Given the description of an element on the screen output the (x, y) to click on. 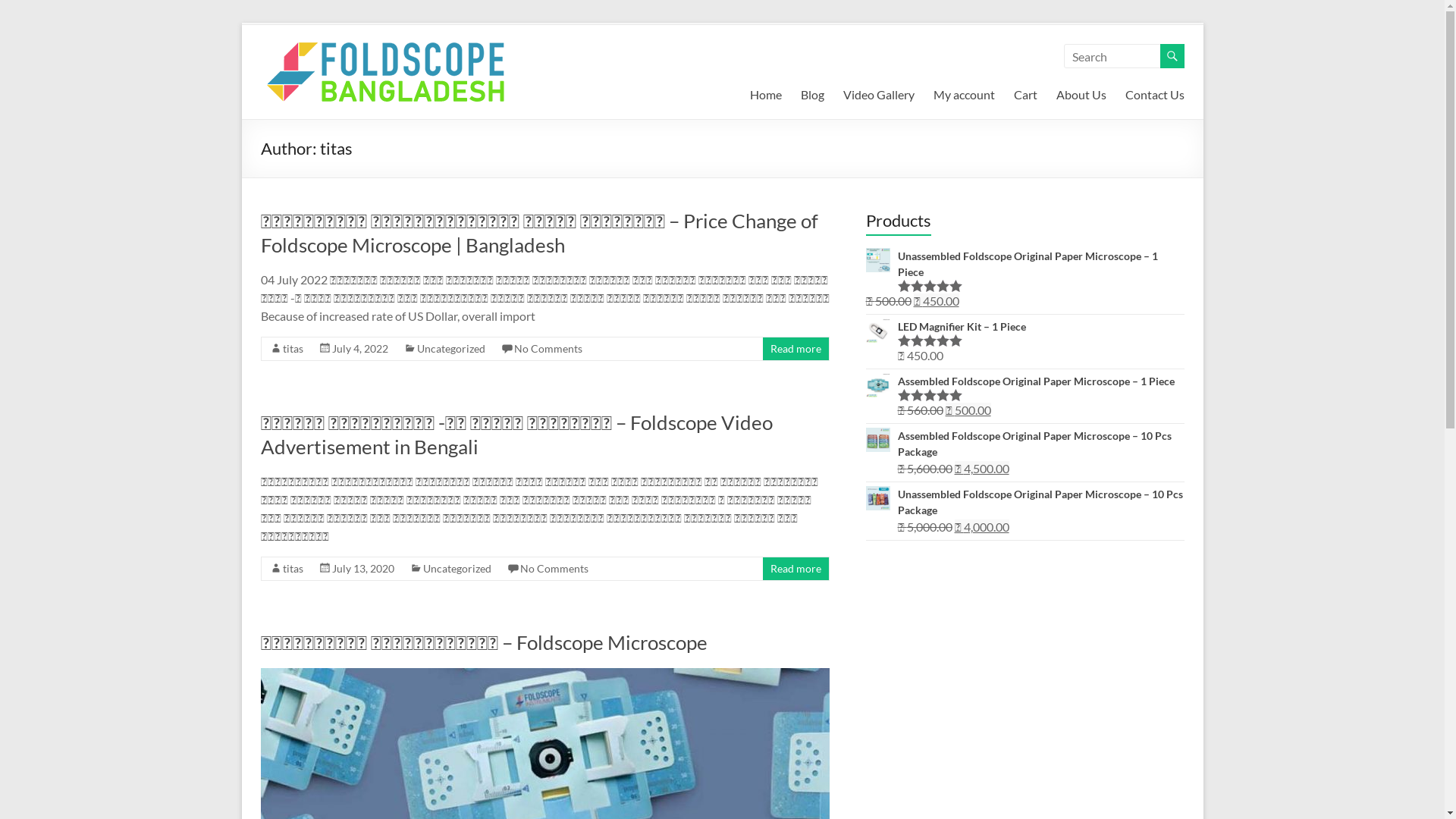
Read more Element type: text (795, 567)
July 4, 2022 Element type: text (360, 348)
Skip to content Element type: text (241, 21)
Uncategorized Element type: text (451, 348)
Home Element type: text (765, 94)
Video Gallery Element type: text (878, 94)
Read more Element type: text (795, 348)
titas Element type: text (292, 567)
My account Element type: text (963, 94)
Foldscope Bangladesh Element type: text (327, 71)
Contact Us Element type: text (1154, 94)
July 13, 2020 Element type: text (363, 567)
titas Element type: text (292, 348)
Blog Element type: text (812, 94)
About Us Element type: text (1080, 94)
Uncategorized Element type: text (457, 567)
Cart Element type: text (1024, 94)
No Comments Element type: text (554, 567)
No Comments Element type: text (548, 348)
